Given the description of an element on the screen output the (x, y) to click on. 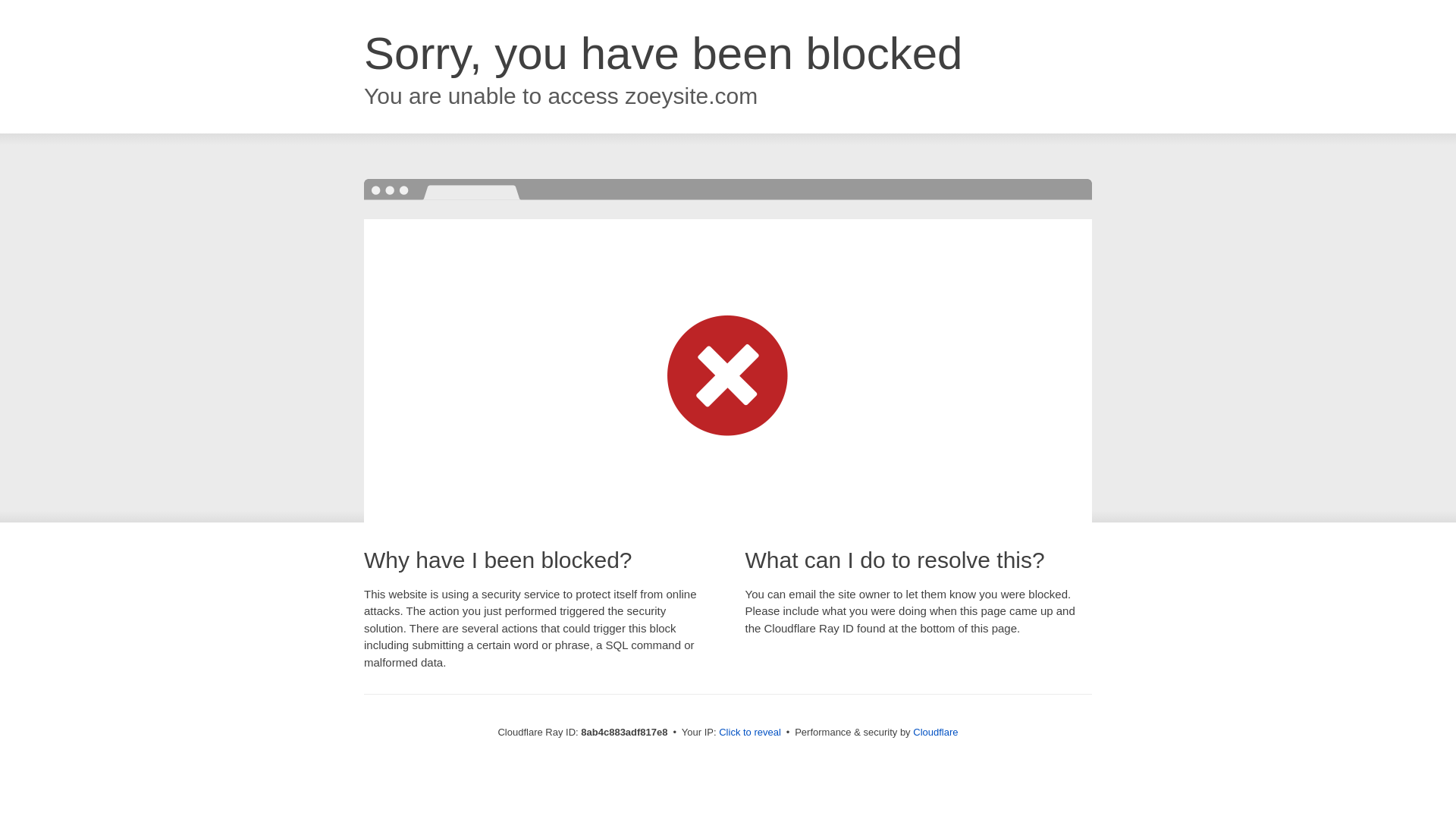
Click to reveal (749, 732)
Cloudflare (935, 731)
